Given the description of an element on the screen output the (x, y) to click on. 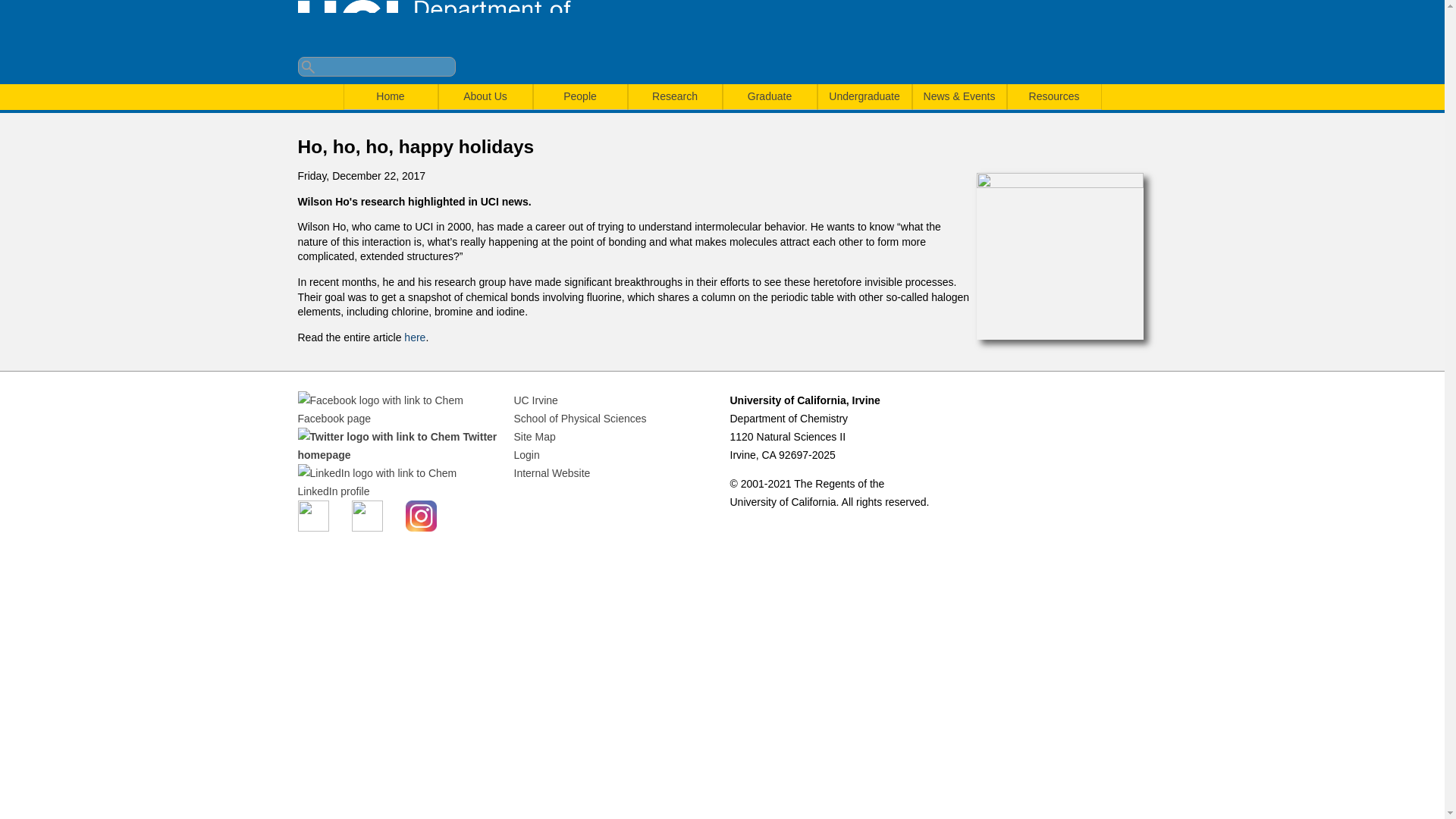
Research (673, 96)
Graduate (769, 96)
Graduate (769, 96)
Undergraduate (863, 96)
People (580, 96)
Undergraduate Studies (863, 96)
Chair's Welcome Message (484, 96)
